Given the description of an element on the screen output the (x, y) to click on. 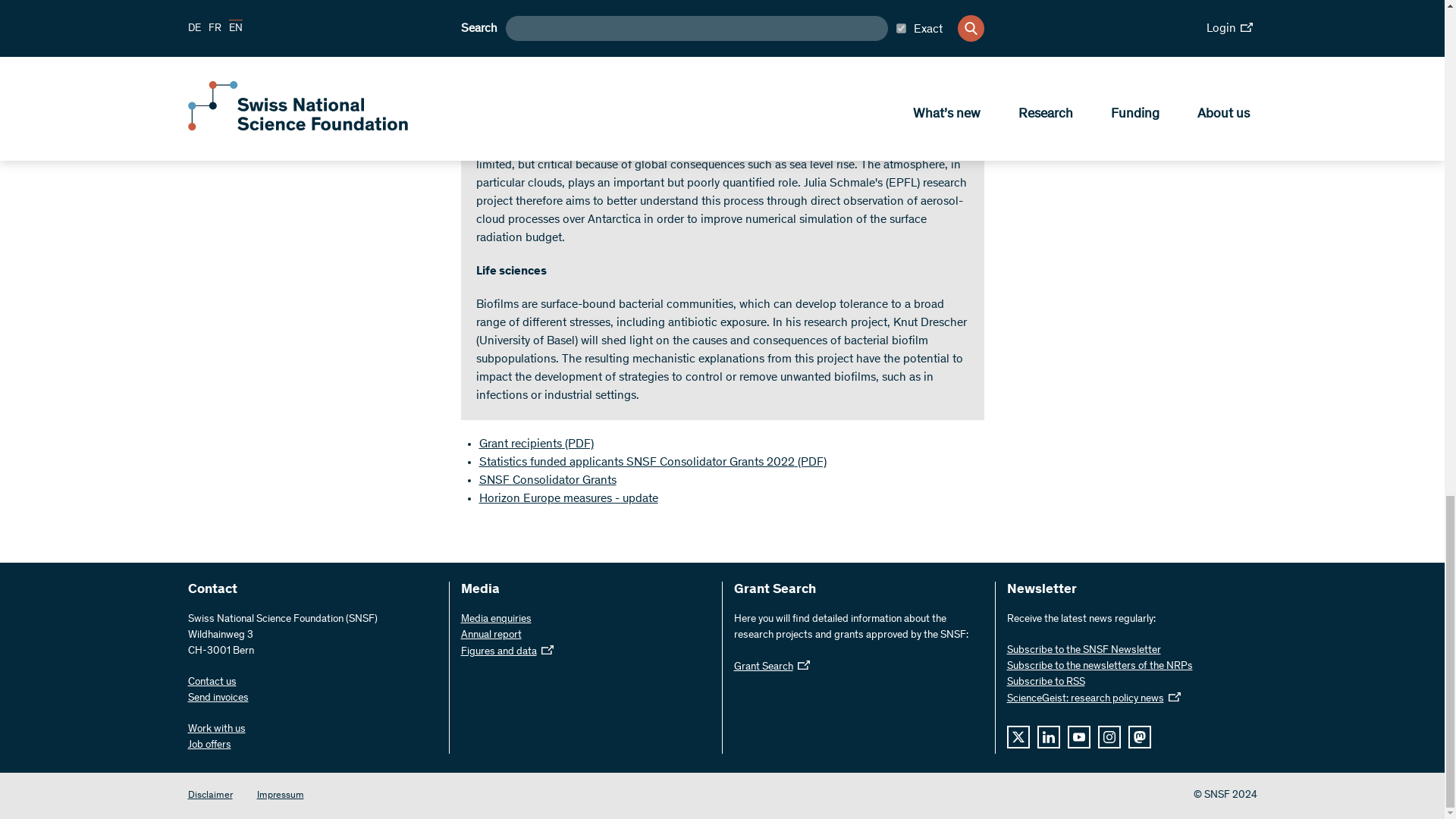
External Link Icon (547, 649)
External Link Icon (1173, 696)
Instagram Icon (1108, 736)
External Link Icon (803, 664)
YouTube Icon (1077, 736)
LinkedIn Icon (1048, 736)
